Given the description of an element on the screen output the (x, y) to click on. 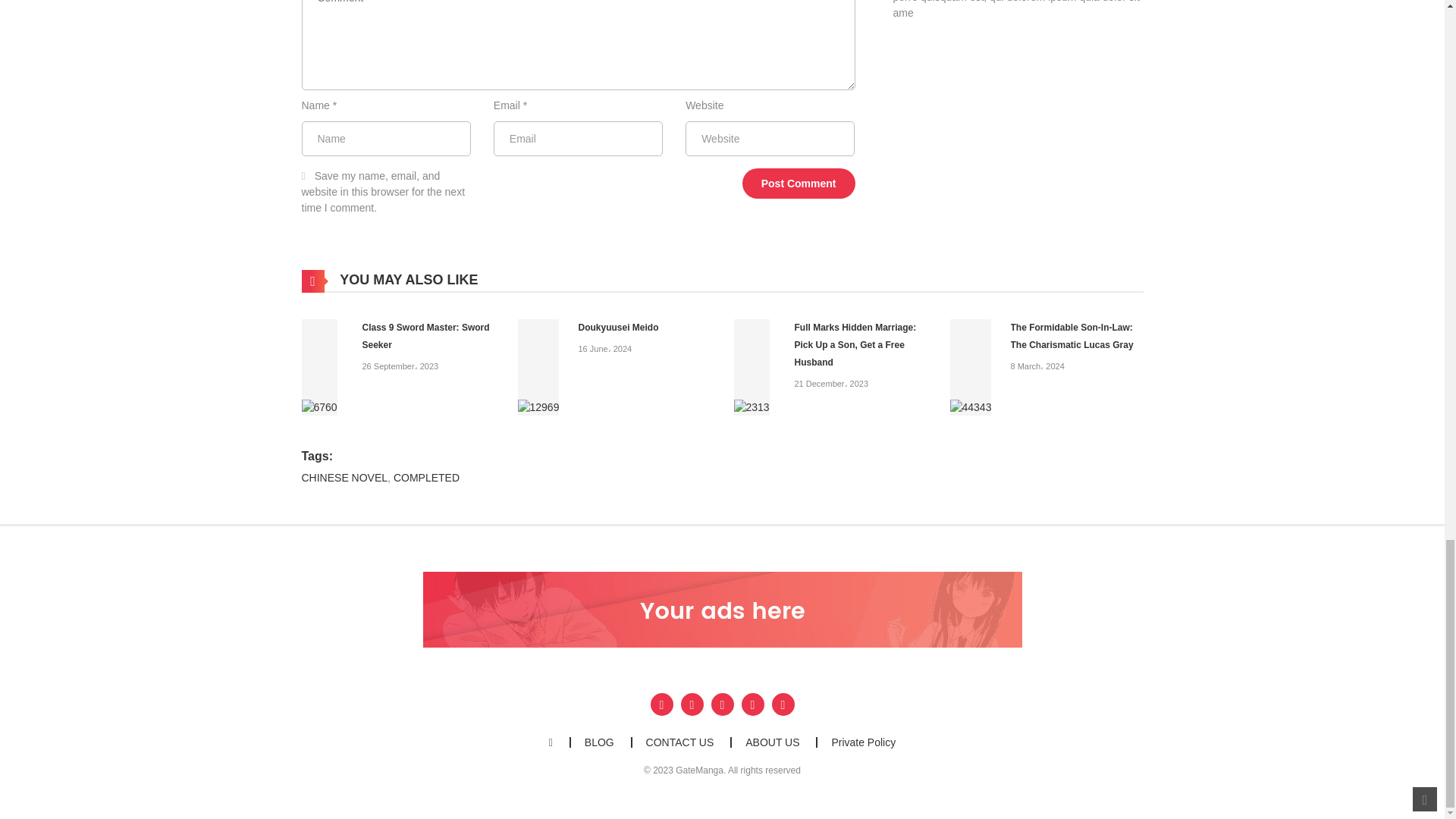
Doukyuusei Meido (537, 367)
Doukyuusei Meido (618, 327)
Class 9 Sword Master: Sword Seeker (425, 336)
Class 9 Sword Master: Sword Seeker (319, 367)
The Formidable Son-In-Law: The Charismatic Lucas Gray (970, 367)
Post Comment (799, 183)
